Given the description of an element on the screen output the (x, y) to click on. 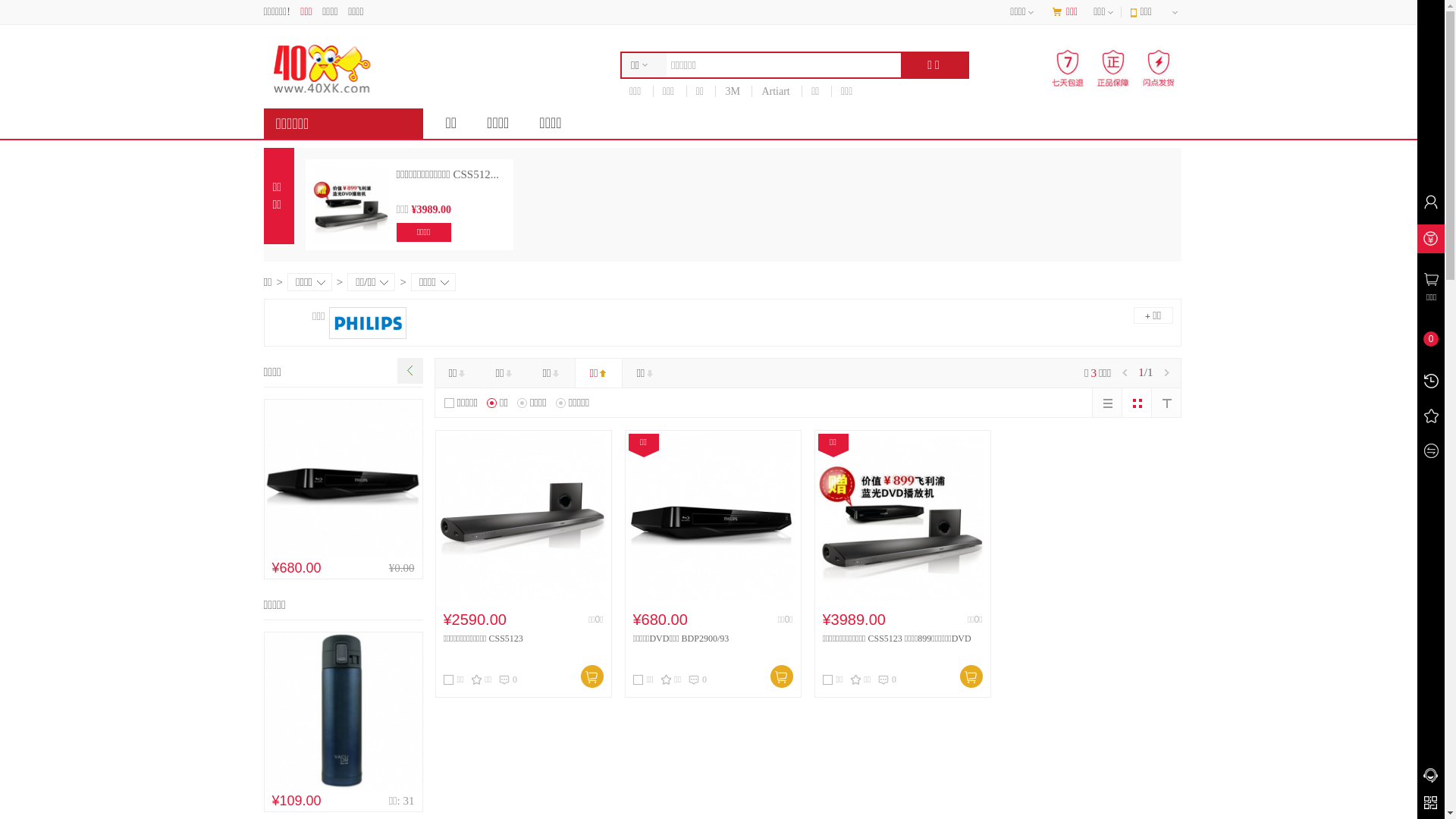
3M Element type: text (731, 91)
Artiart Element type: text (775, 91)
0 Element type: text (697, 679)
0 Element type: text (887, 679)
0 Element type: text (507, 679)
